Given the description of an element on the screen output the (x, y) to click on. 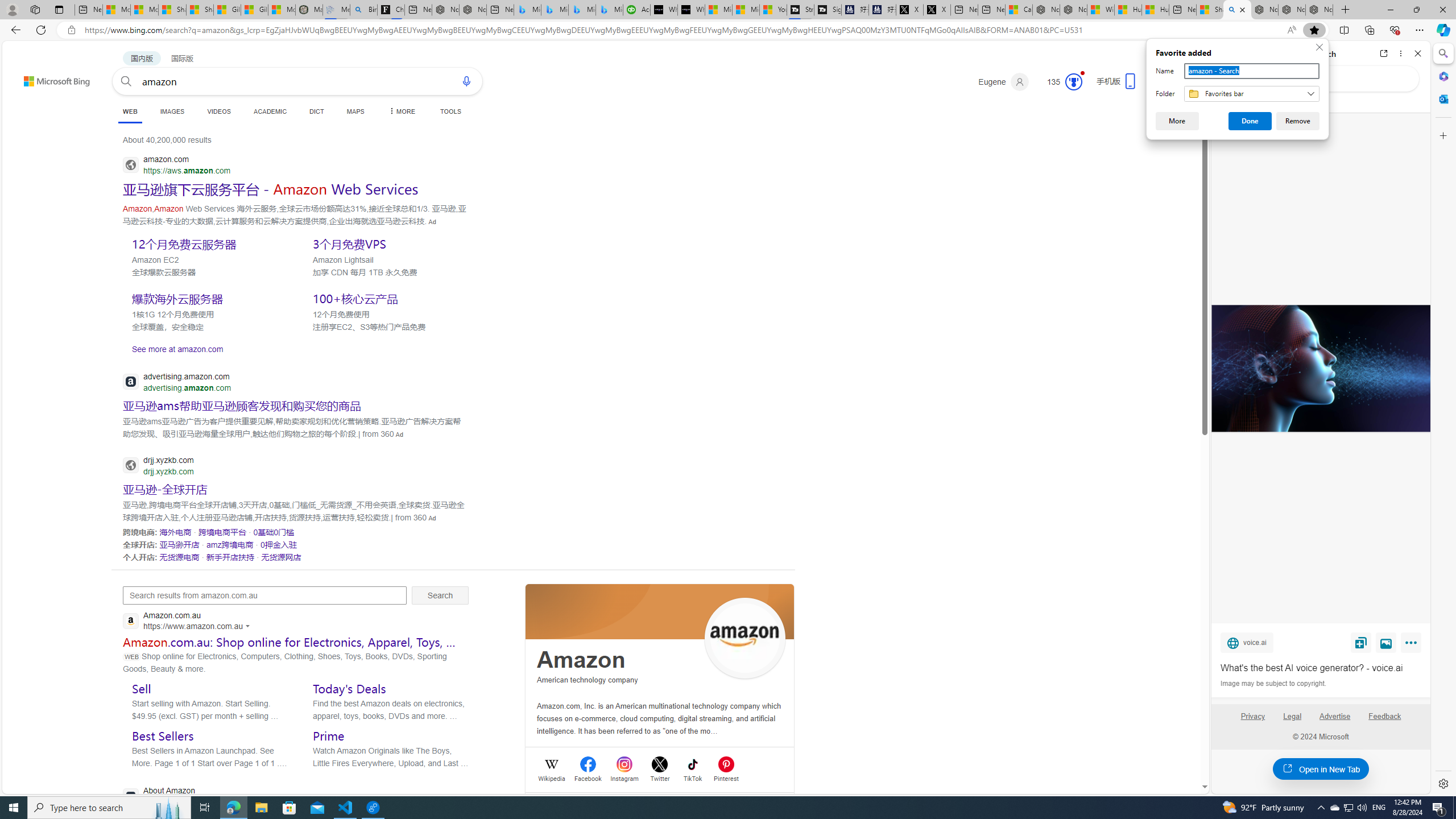
Customize (1442, 135)
TOOLS (450, 111)
SERP,5553 (388, 298)
Back to Bing search (50, 78)
Nordace - Siena Pro 15 Essential Set (1319, 9)
View image (1385, 642)
SERP,5567 (222, 532)
Nordace Siena Pro 15 Backpack (1292, 9)
Global web icon (130, 795)
